Given the description of an element on the screen output the (x, y) to click on. 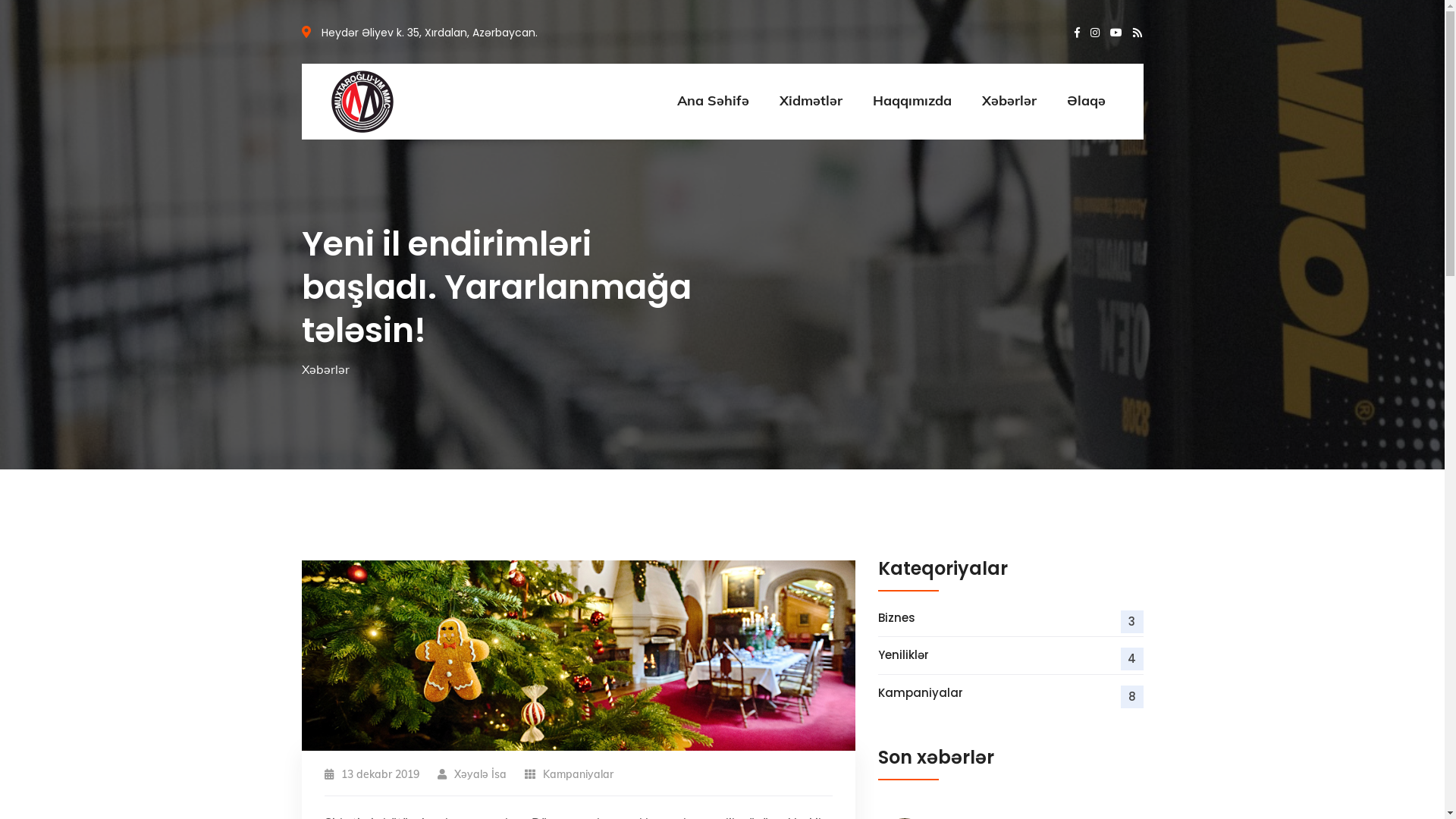
Kampaniyalar
8 Element type: text (1010, 692)
Biznes
3 Element type: text (1010, 617)
